Given the description of an element on the screen output the (x, y) to click on. 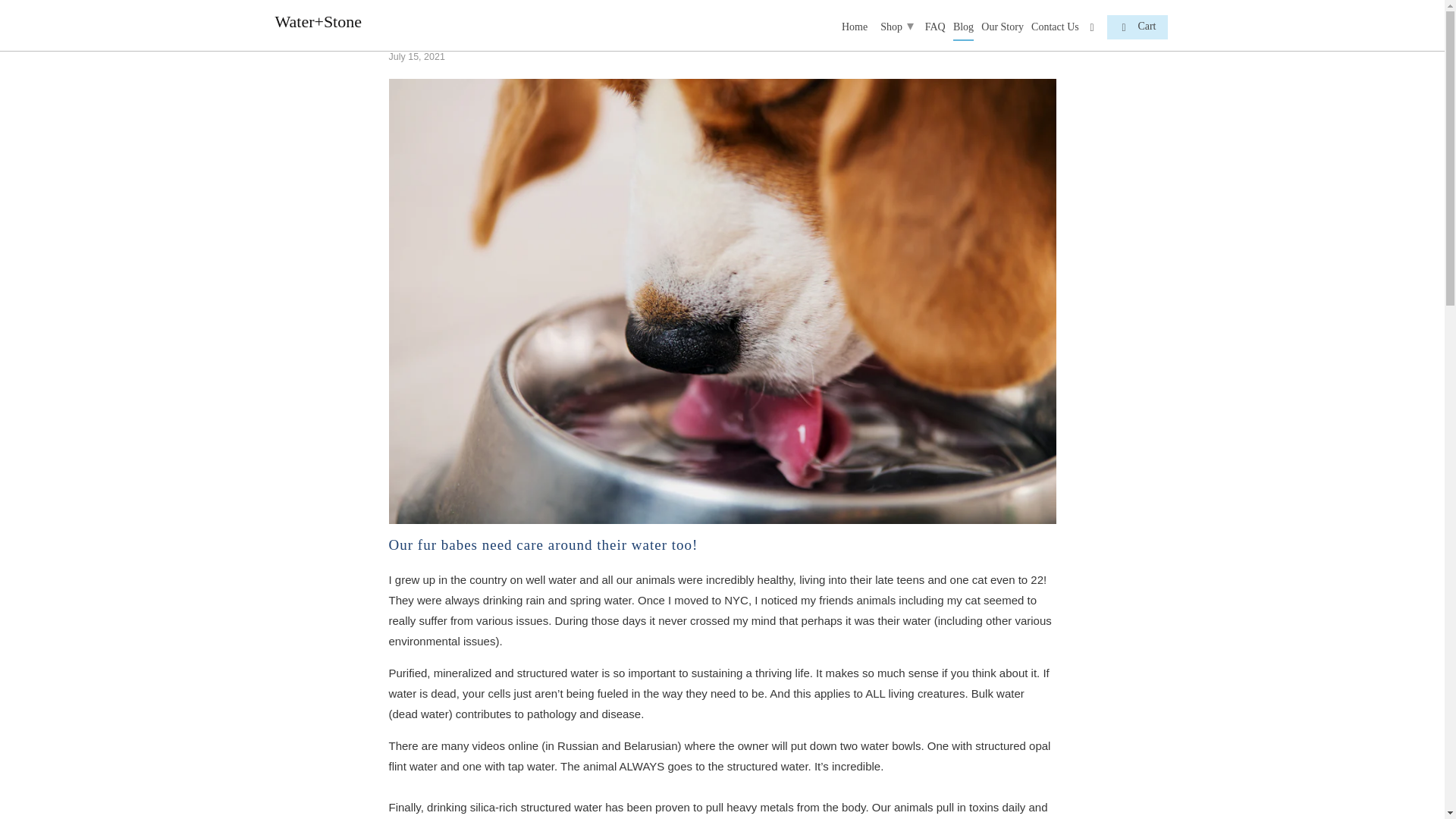
Search (1092, 30)
